Given the description of an element on the screen output the (x, y) to click on. 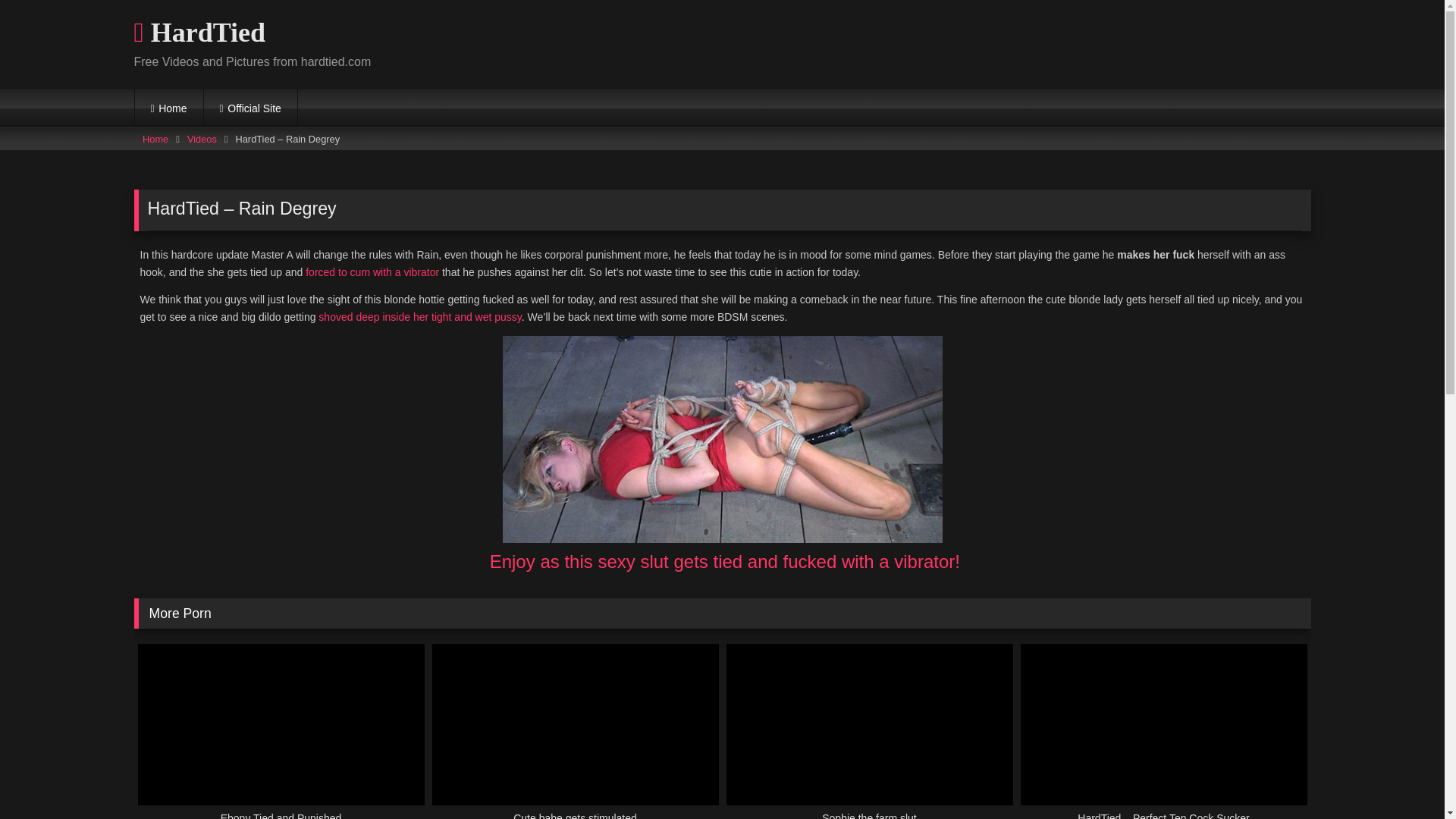
Cute babe gets stimulated (575, 731)
Sophie the farm slut (869, 731)
Official Site (250, 108)
shoved deep inside her tight and wet pussy (419, 316)
Videos (201, 138)
Home (169, 108)
forced to cum with a vibrator (372, 272)
Ebony Tied and Punished (281, 731)
Cute babe gets stimulated (575, 731)
Home (155, 138)
HardTied (198, 32)
Ebony Tied and Punished (281, 731)
Sophie the farm slut (869, 731)
